Given the description of an element on the screen output the (x, y) to click on. 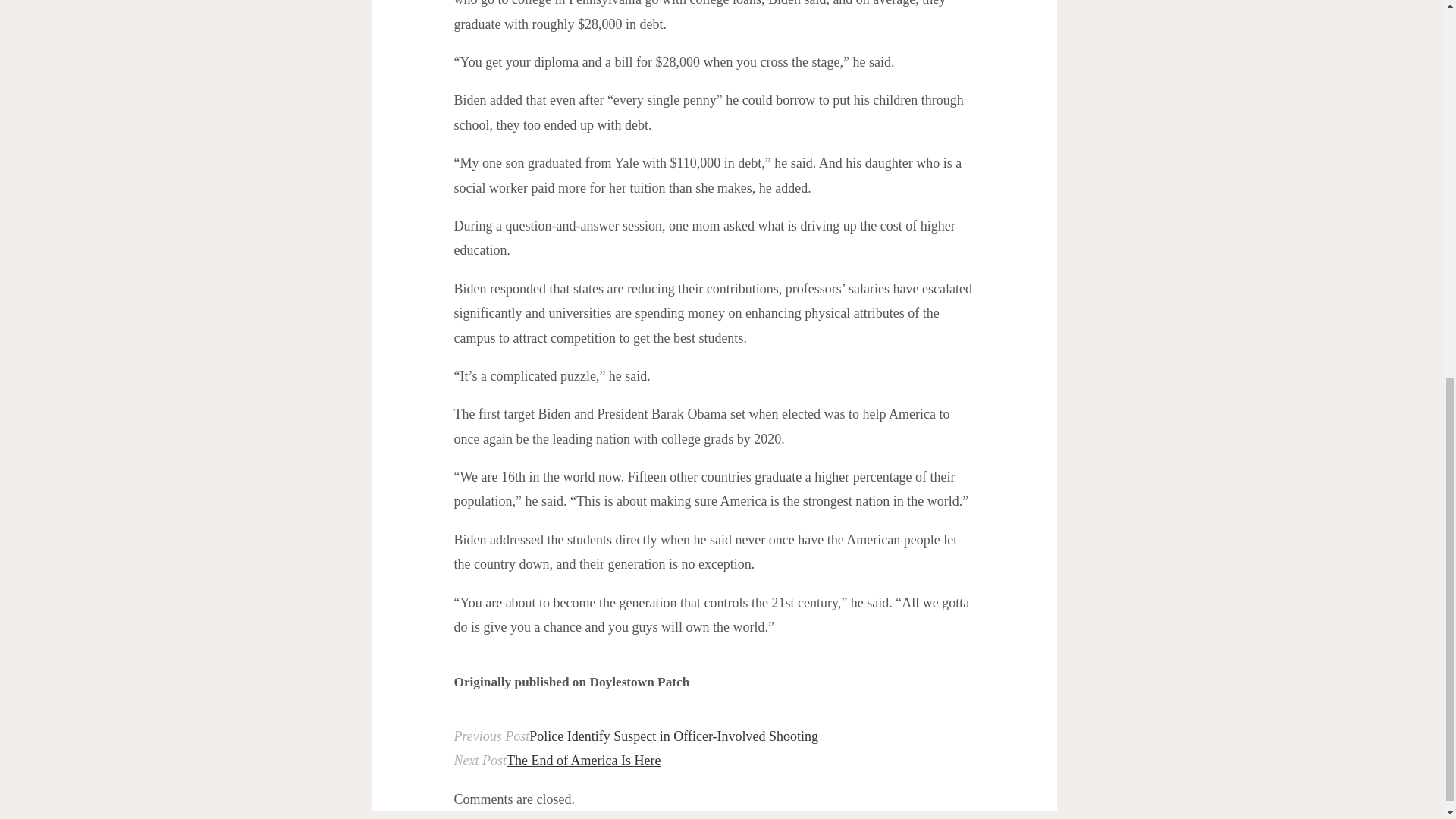
The End of America Is Here (583, 760)
Police Identify Suspect in Officer-Involved Shooting (673, 735)
